Given the description of an element on the screen output the (x, y) to click on. 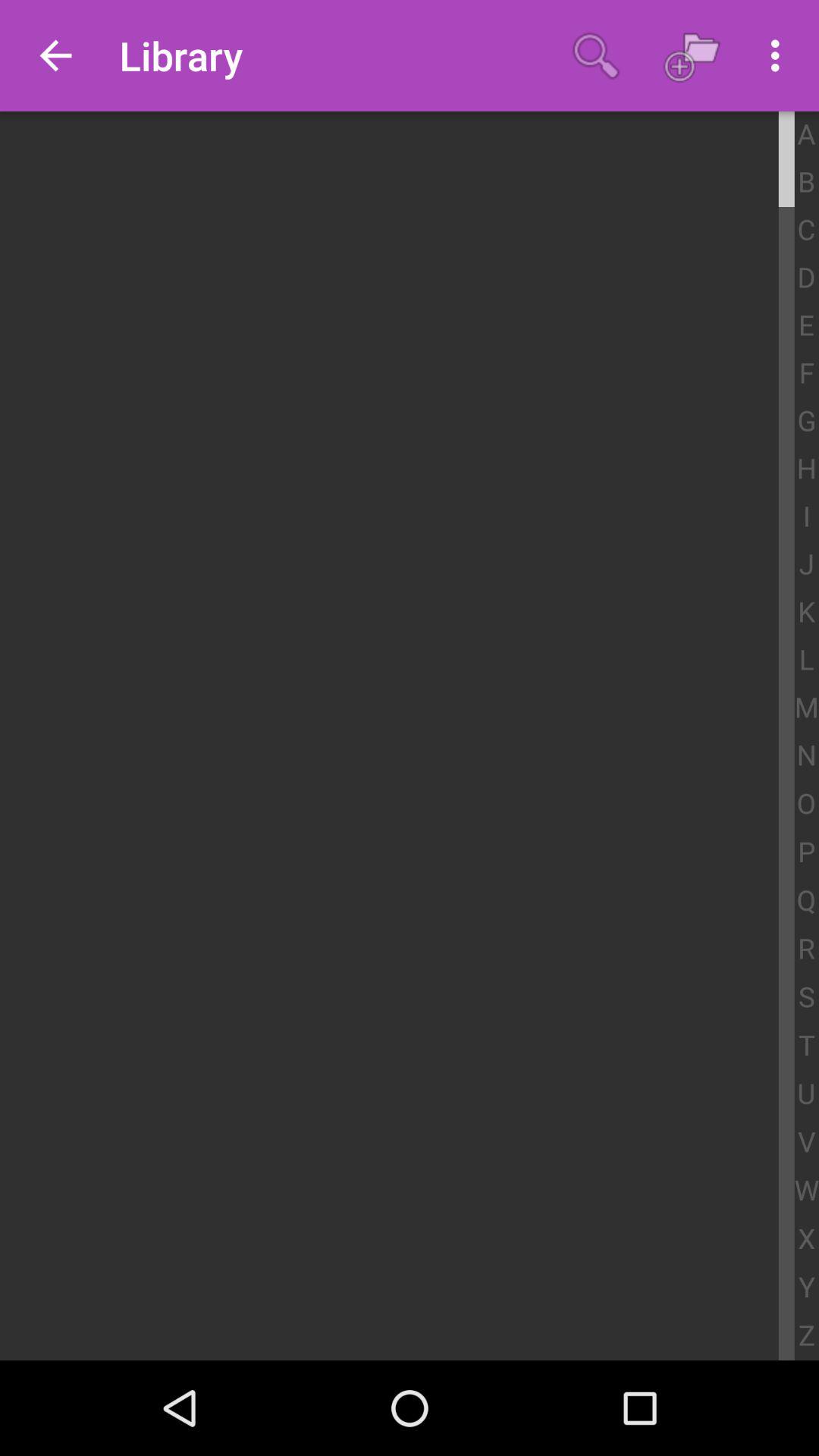
jump until r icon (806, 949)
